Given the description of an element on the screen output the (x, y) to click on. 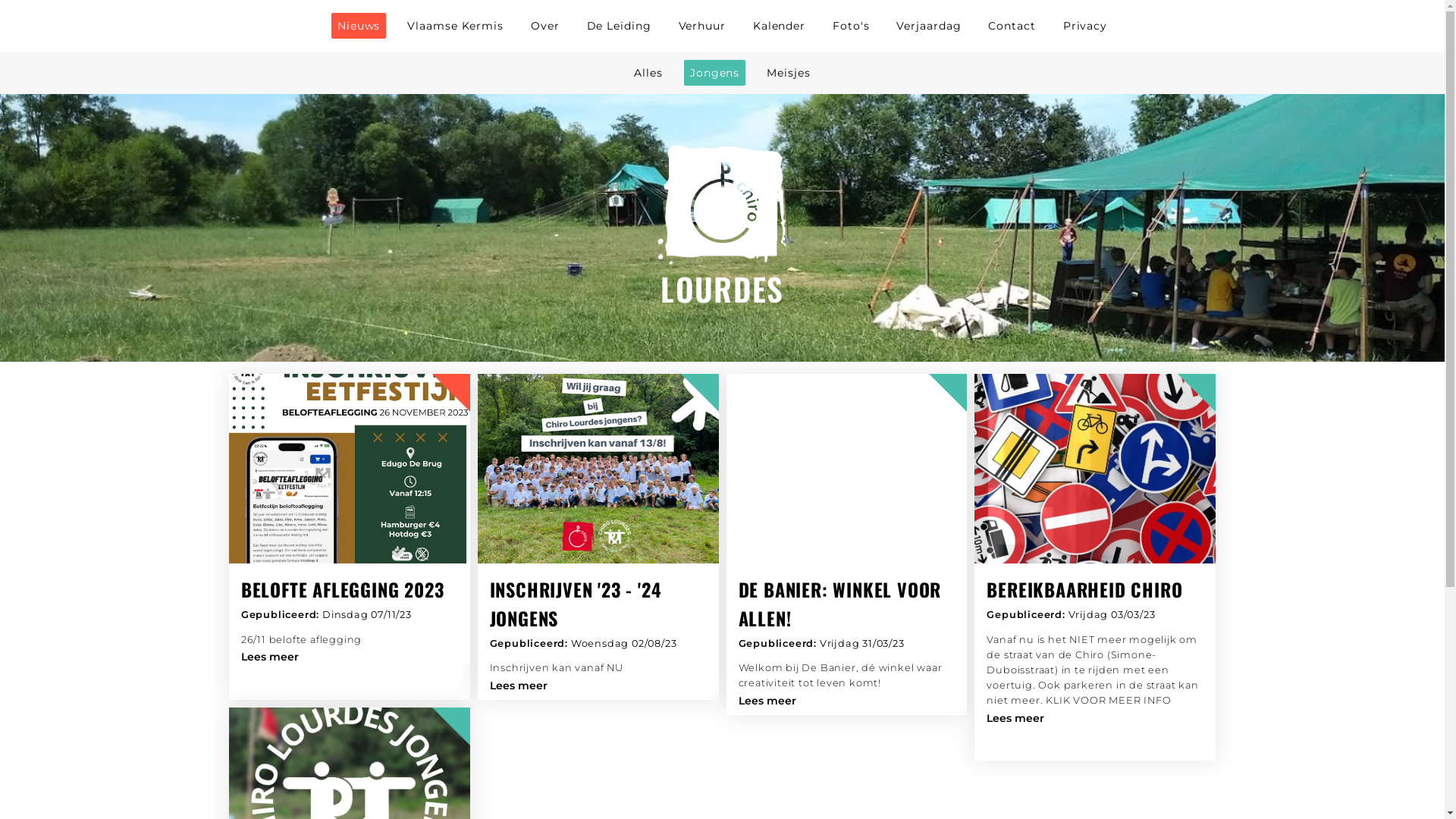
Over Element type: text (544, 25)
De Leiding Element type: text (618, 25)
Meisjes Element type: text (787, 72)
Kalender Element type: text (778, 25)
Lees meer Element type: text (269, 656)
Lees meer Element type: text (1015, 717)
Verhuur Element type: text (701, 25)
Alles Element type: text (647, 72)
Lees meer Element type: text (767, 700)
Contact Element type: text (1011, 25)
Privacy Element type: text (1085, 25)
Vlaamse Kermis Element type: text (455, 25)
Nieuws Element type: text (358, 25)
Foto's Element type: text (850, 25)
Jongens Element type: text (714, 72)
Verjaardag Element type: text (928, 25)
Lees meer Element type: text (518, 685)
